Given the description of an element on the screen output the (x, y) to click on. 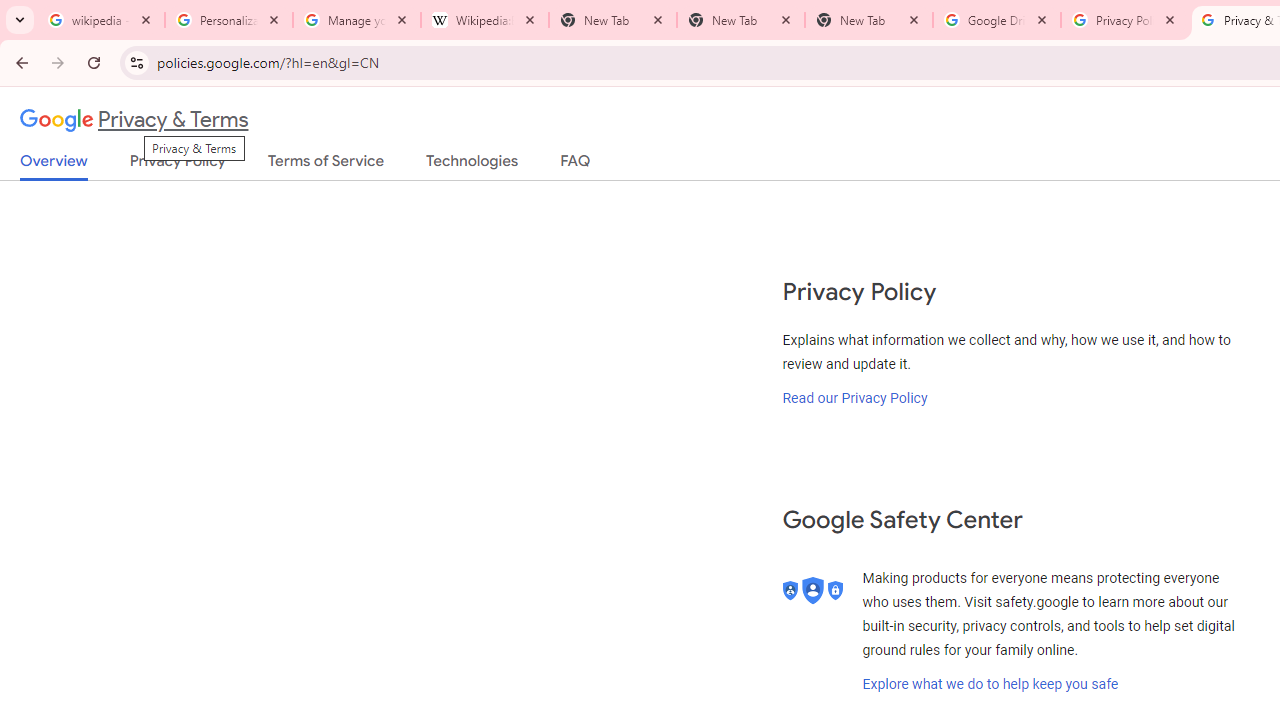
Read our Privacy Policy (855, 397)
Manage your Location History - Google Search Help (357, 20)
Google Drive: Sign-in (997, 20)
New Tab (869, 20)
